Given the description of an element on the screen output the (x, y) to click on. 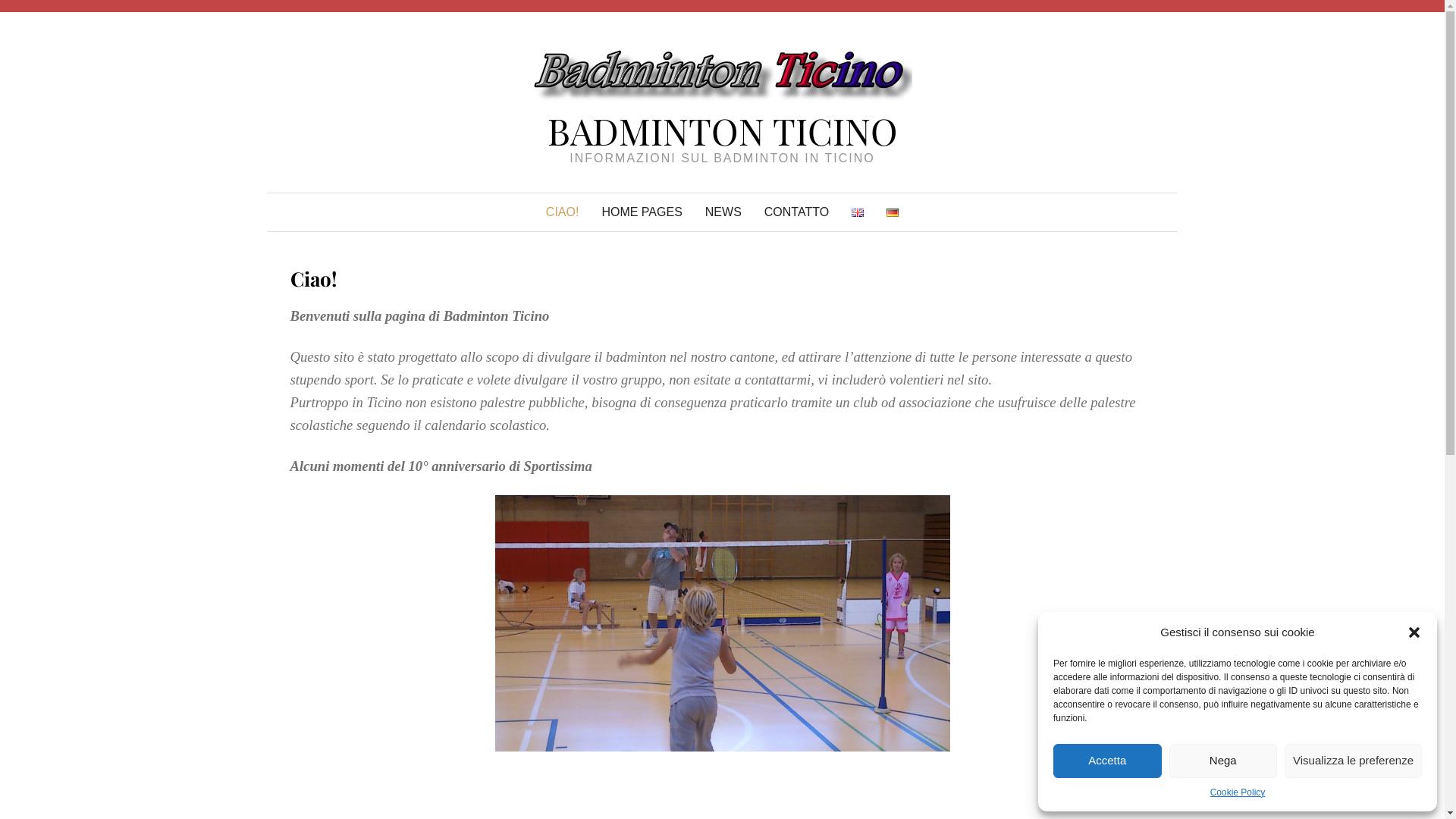
DSC_0231 Element type: hover (721, 623)
BADMINTON TICINO Element type: text (722, 130)
Visualizza le preferenze Element type: text (1352, 760)
Accetta Element type: text (1107, 760)
Cookie Policy Element type: text (1237, 792)
HOME PAGES Element type: text (641, 212)
CONTATTO Element type: text (796, 212)
Nega Element type: text (1223, 760)
NEWS Element type: text (723, 212)
CIAO! Element type: text (562, 212)
